Given the description of an element on the screen output the (x, y) to click on. 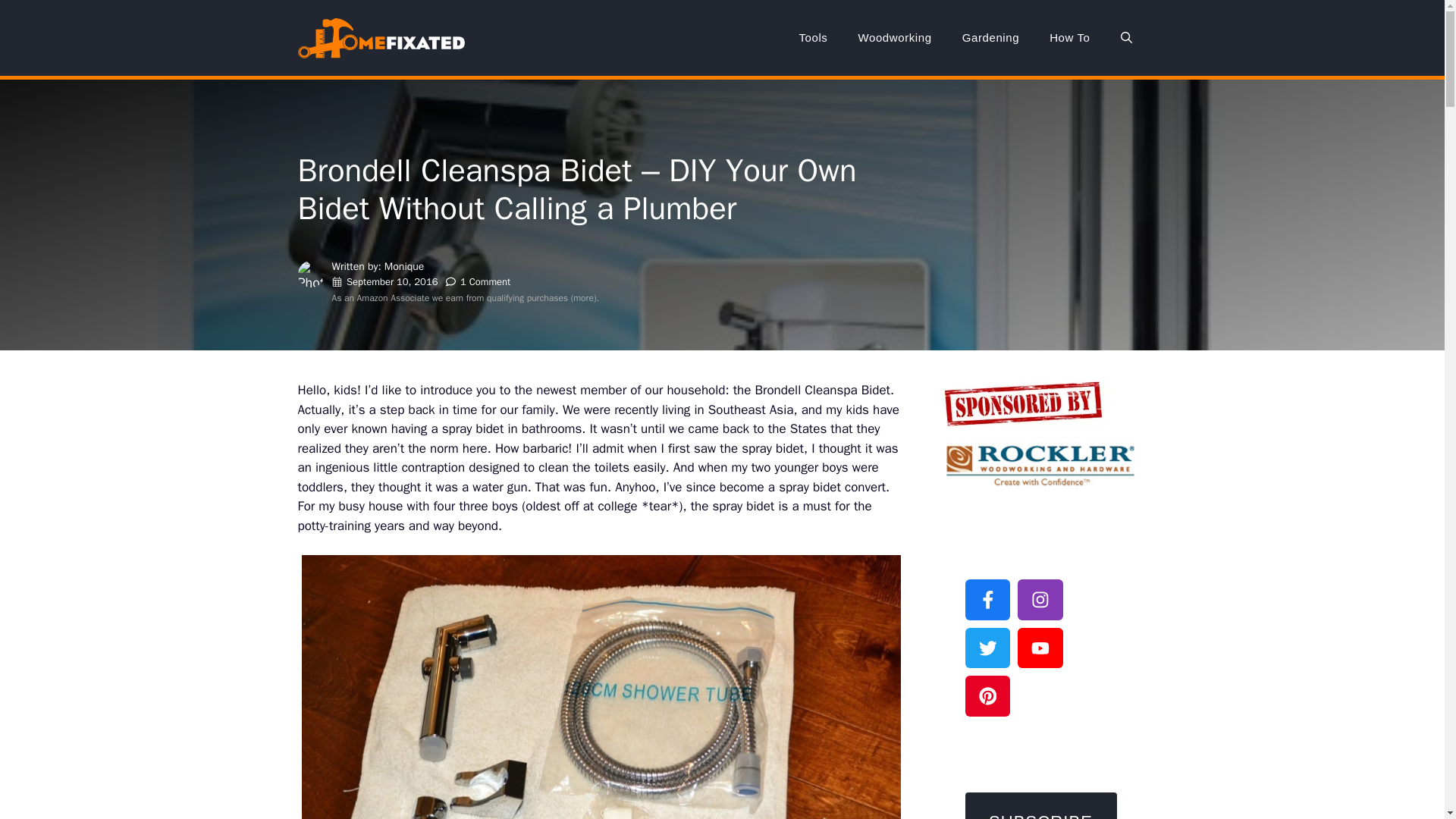
Gardening (990, 37)
How To (1069, 37)
sponsored-by (1023, 402)
Tools (813, 37)
1 Comment (485, 281)
more (583, 297)
Woodworking (894, 37)
Monique (404, 266)
